Given the description of an element on the screen output the (x, y) to click on. 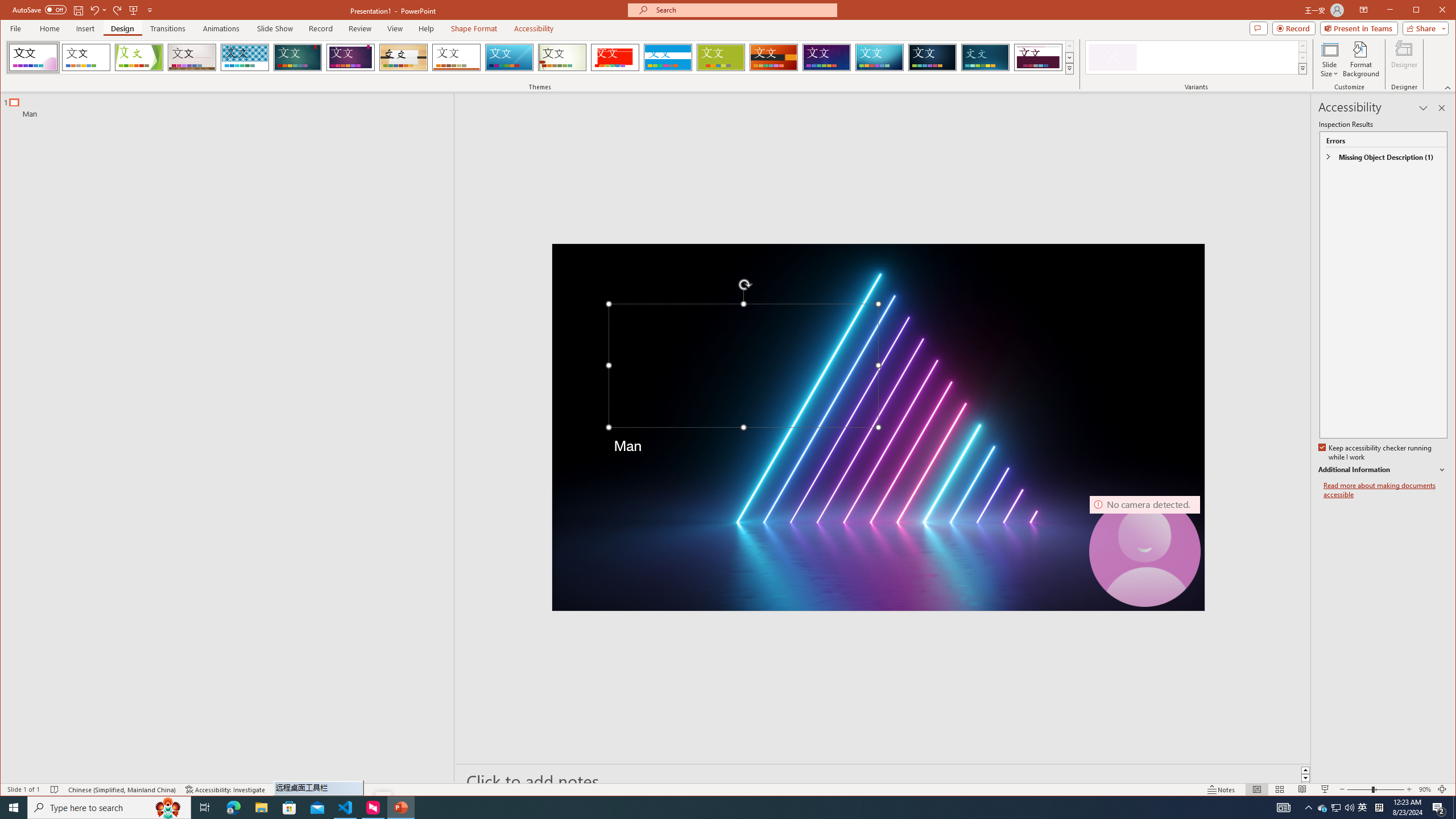
Slice (509, 57)
Facet (138, 57)
